Given the description of an element on the screen output the (x, y) to click on. 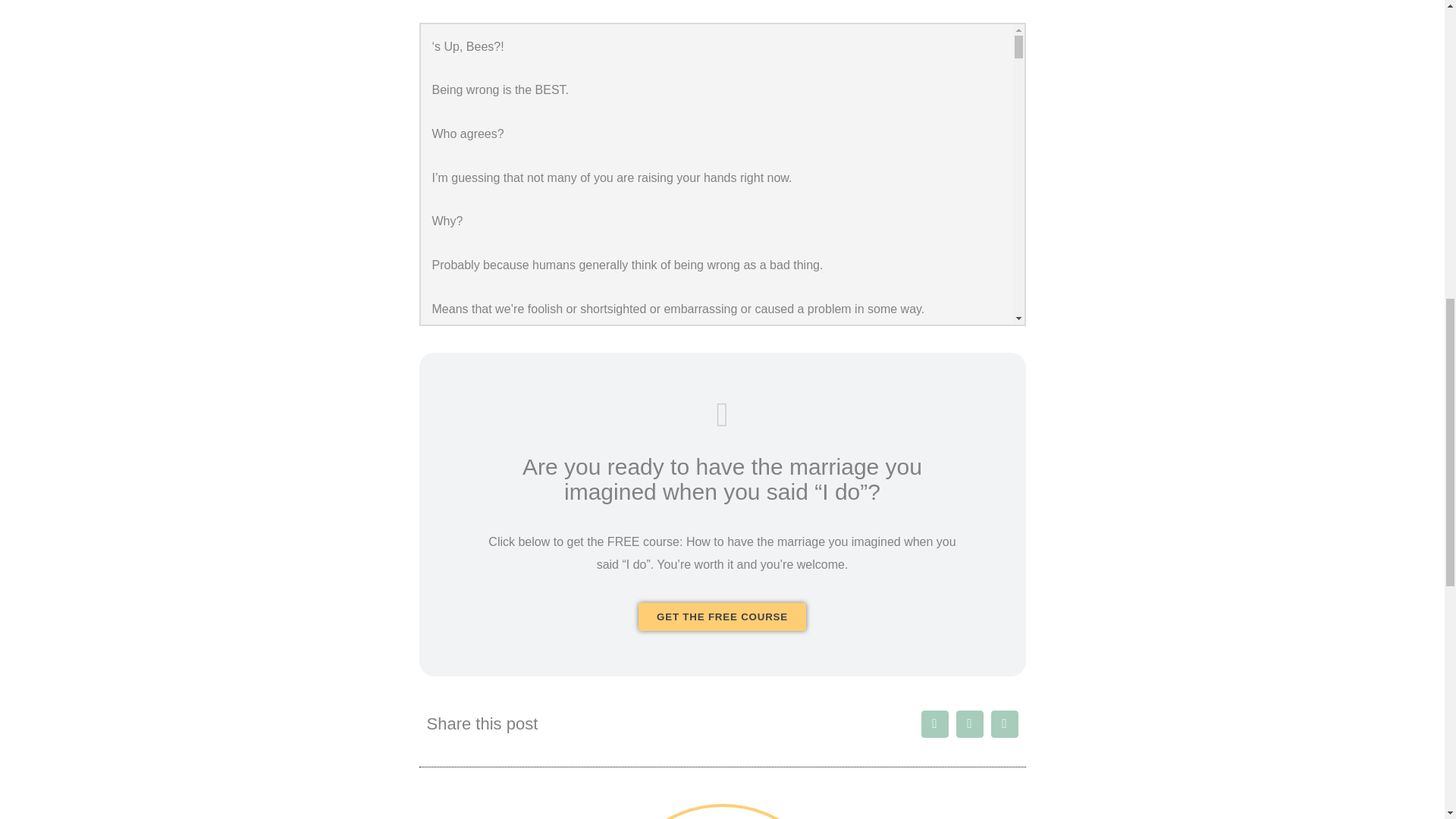
GET THE FREE COURSE (722, 616)
